Given the description of an element on the screen output the (x, y) to click on. 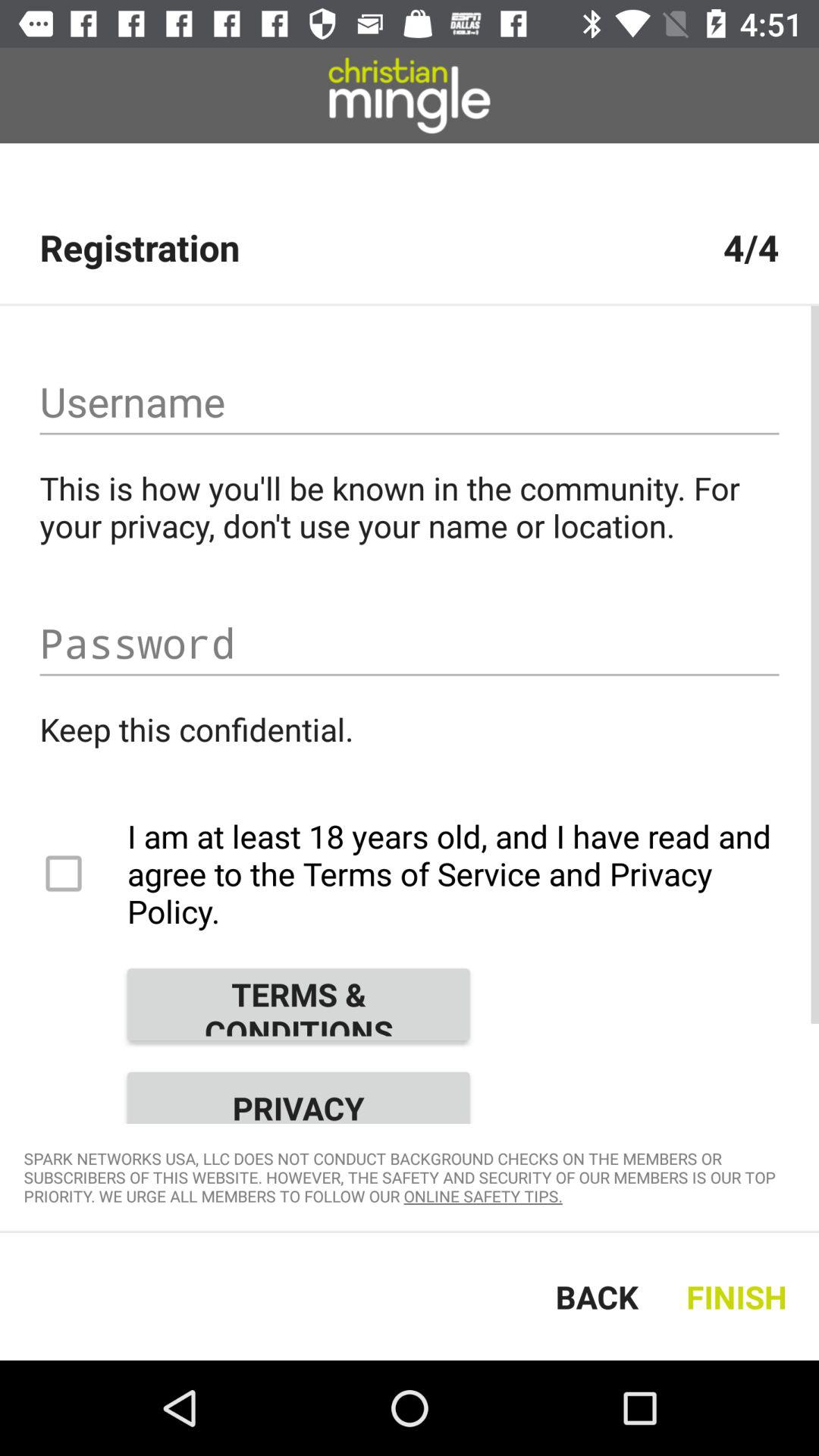
tap icon below i am at (298, 1004)
